Given the description of an element on the screen output the (x, y) to click on. 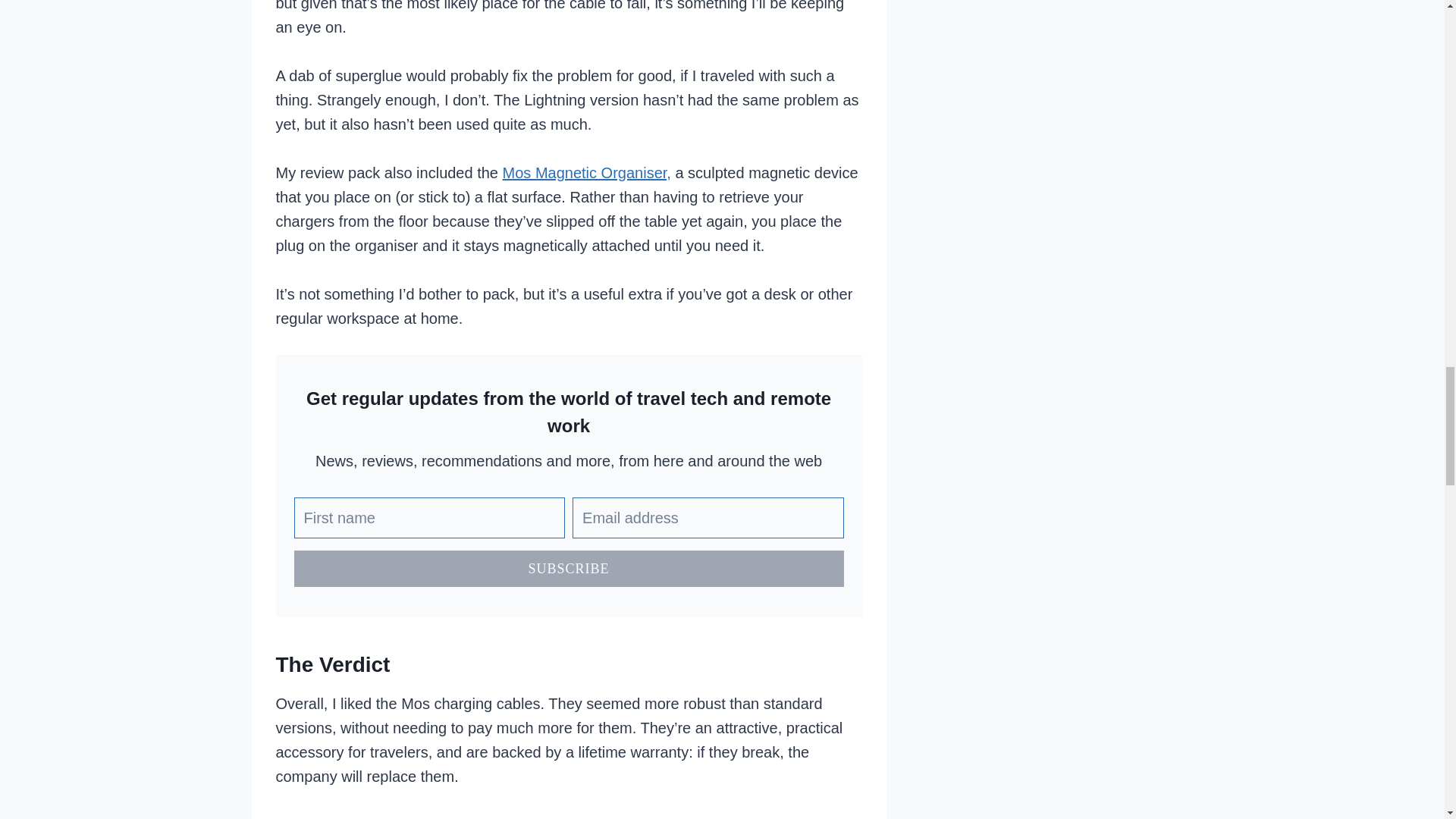
SUBSCRIBE (569, 568)
Mos Magnetic Organiser, (586, 172)
